Given the description of an element on the screen output the (x, y) to click on. 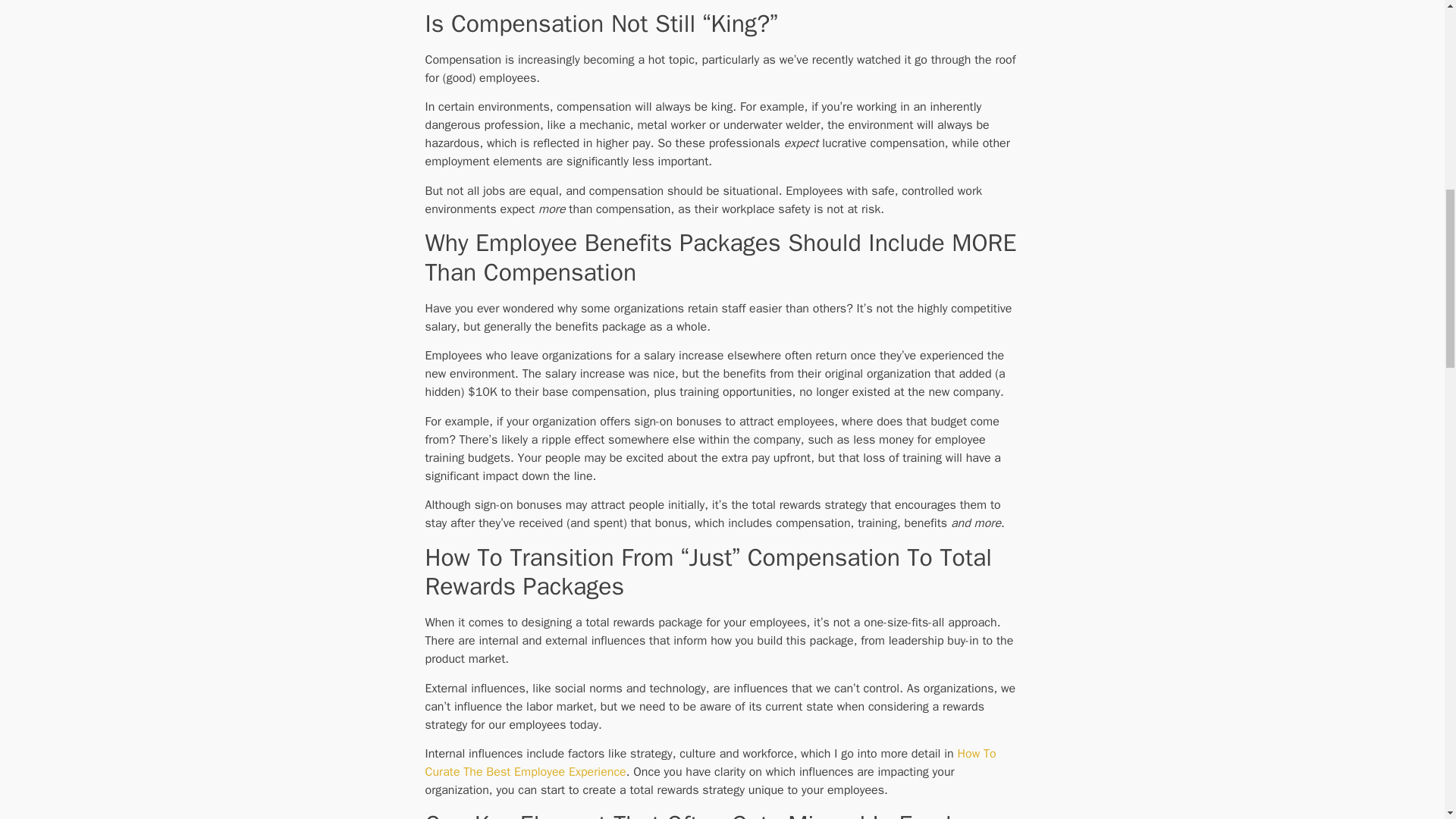
How To Curate The Best Employee Experience (710, 762)
